Given the description of an element on the screen output the (x, y) to click on. 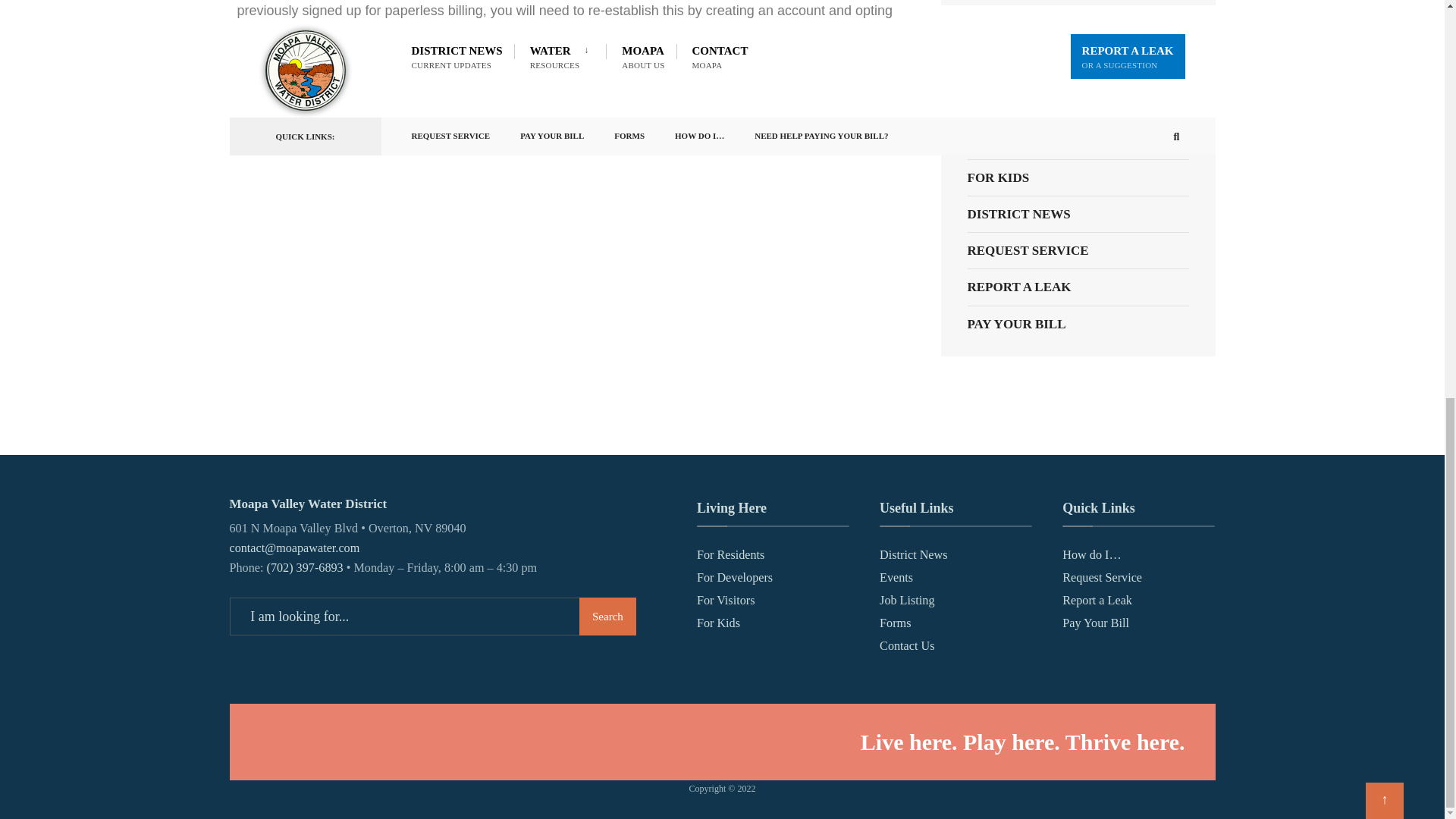
I am looking for... (431, 616)
FOR DEVELOPERS (1078, 104)
FOR RESIDENTS (1078, 67)
FOR VISITORS (1078, 140)
For Developers (735, 577)
REPORT A LEAK (1078, 286)
PAY YOUR BILL (1078, 324)
REQUEST SERVICE (1078, 250)
FOR KIDS (1078, 177)
Scroll to top (1384, 27)
